Given the description of an element on the screen output the (x, y) to click on. 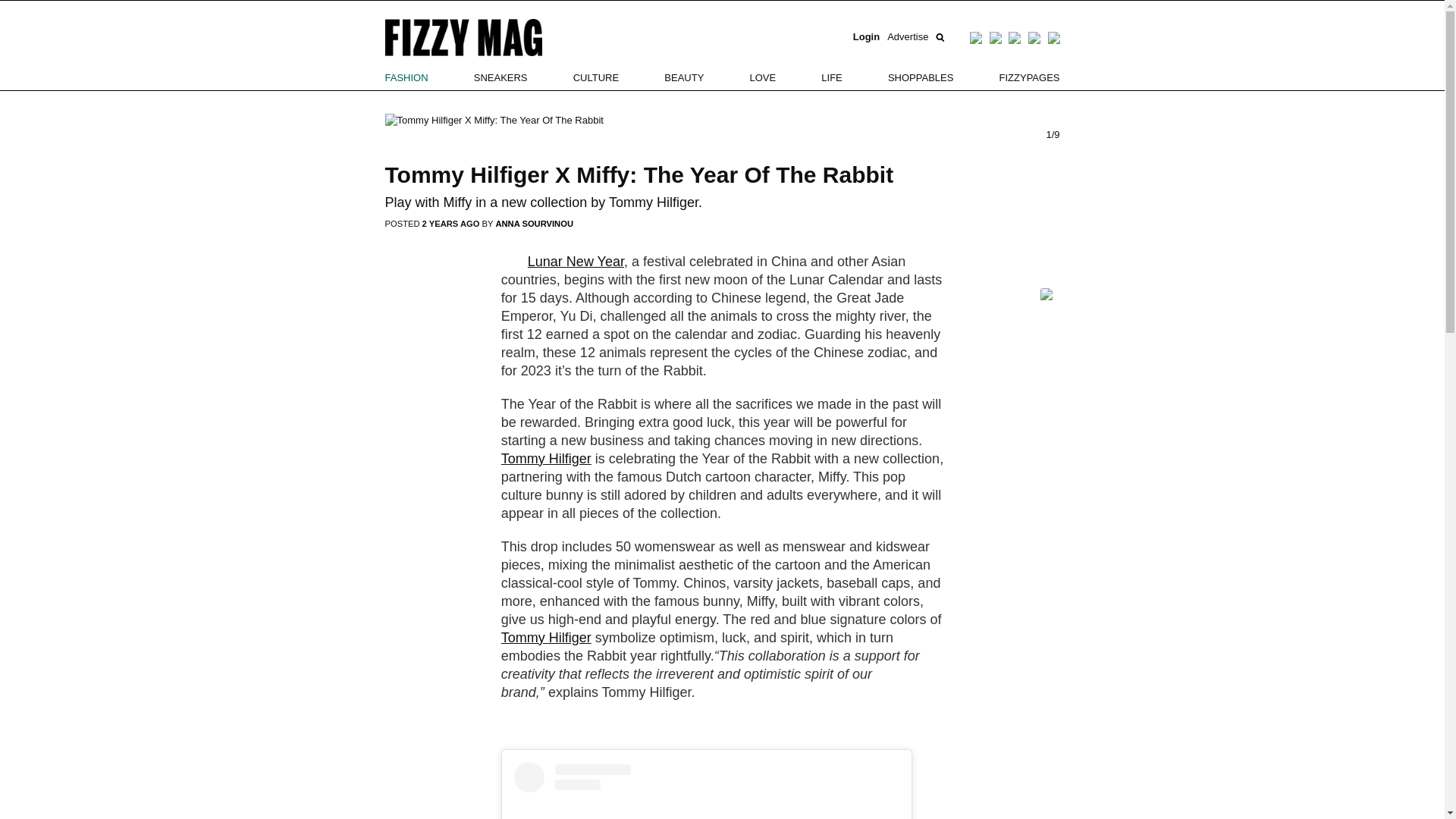
LIFE (831, 77)
LOVE (762, 77)
Login (866, 37)
Advertise (907, 37)
13.12.22 16:10 (451, 223)
CULTURE (595, 77)
BEAUTY (683, 77)
SNEAKERS (500, 77)
FASHION (406, 77)
